Given the description of an element on the screen output the (x, y) to click on. 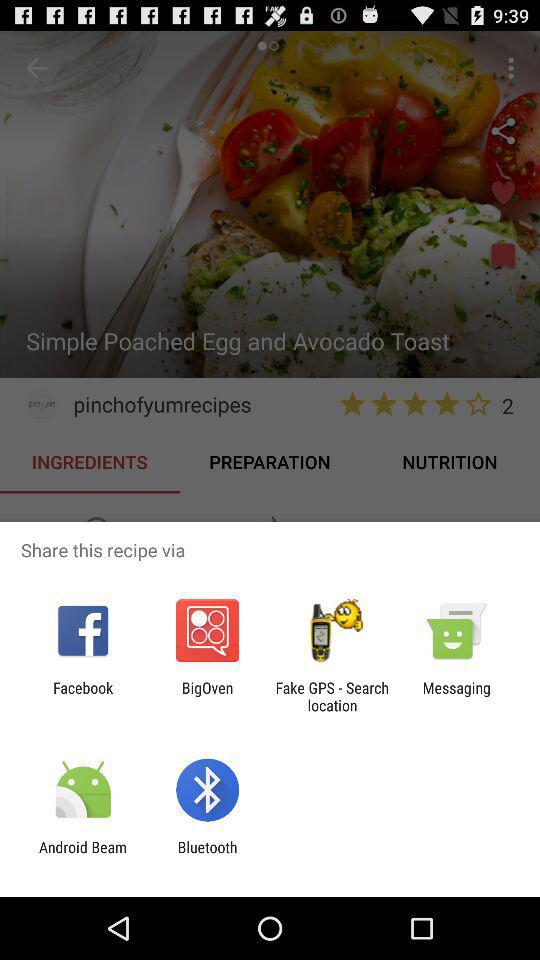
launch the icon to the right of bigoven icon (332, 696)
